Given the description of an element on the screen output the (x, y) to click on. 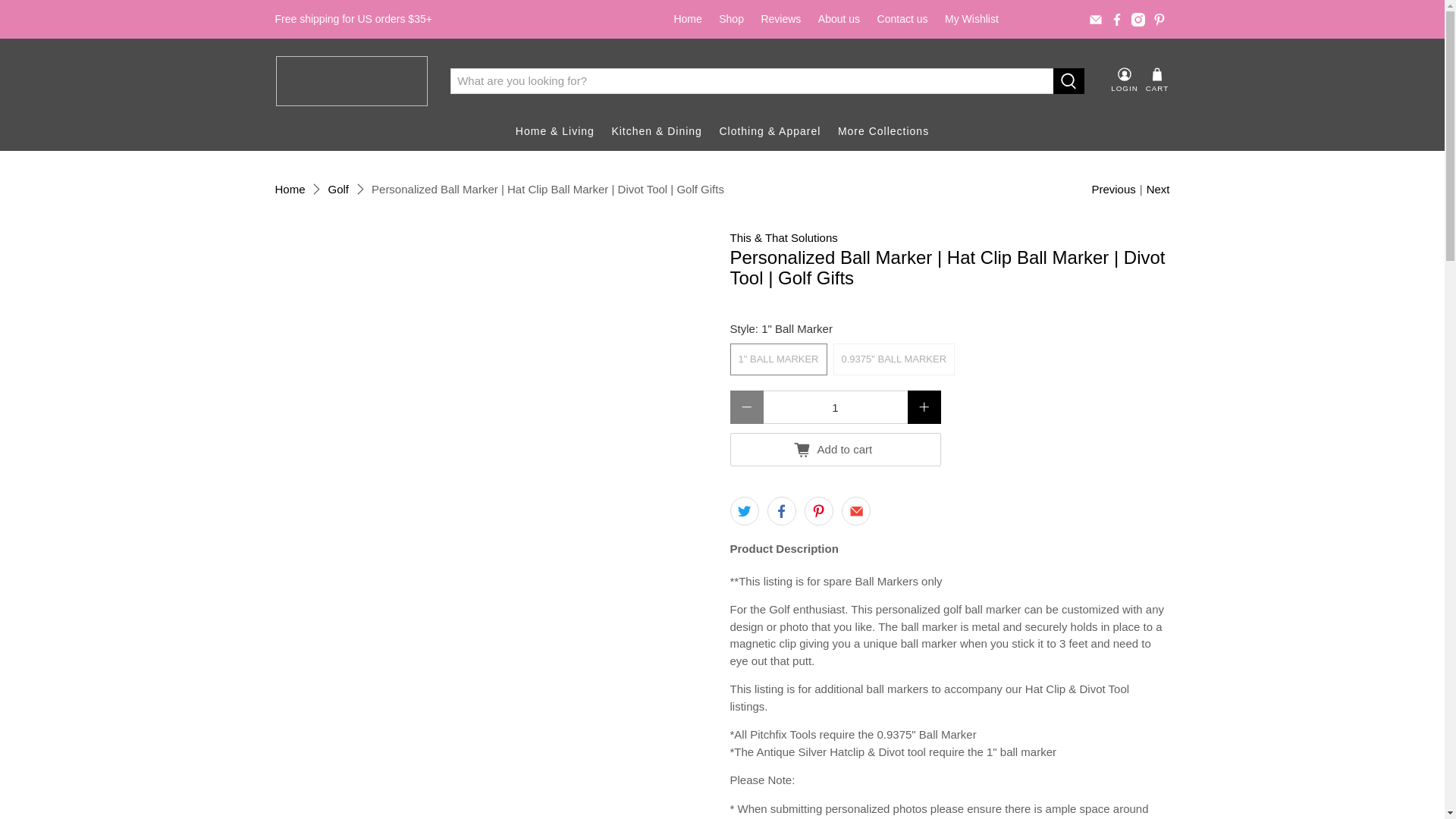
Next (1158, 189)
Email this to a friend (855, 510)
Share this on Twitter (743, 510)
More Collections (883, 131)
Previous (1112, 189)
Home (687, 19)
Share this on Facebook (781, 510)
Shop (731, 19)
My Wishlist (971, 19)
Share this on Pinterest (818, 510)
